Given the description of an element on the screen output the (x, y) to click on. 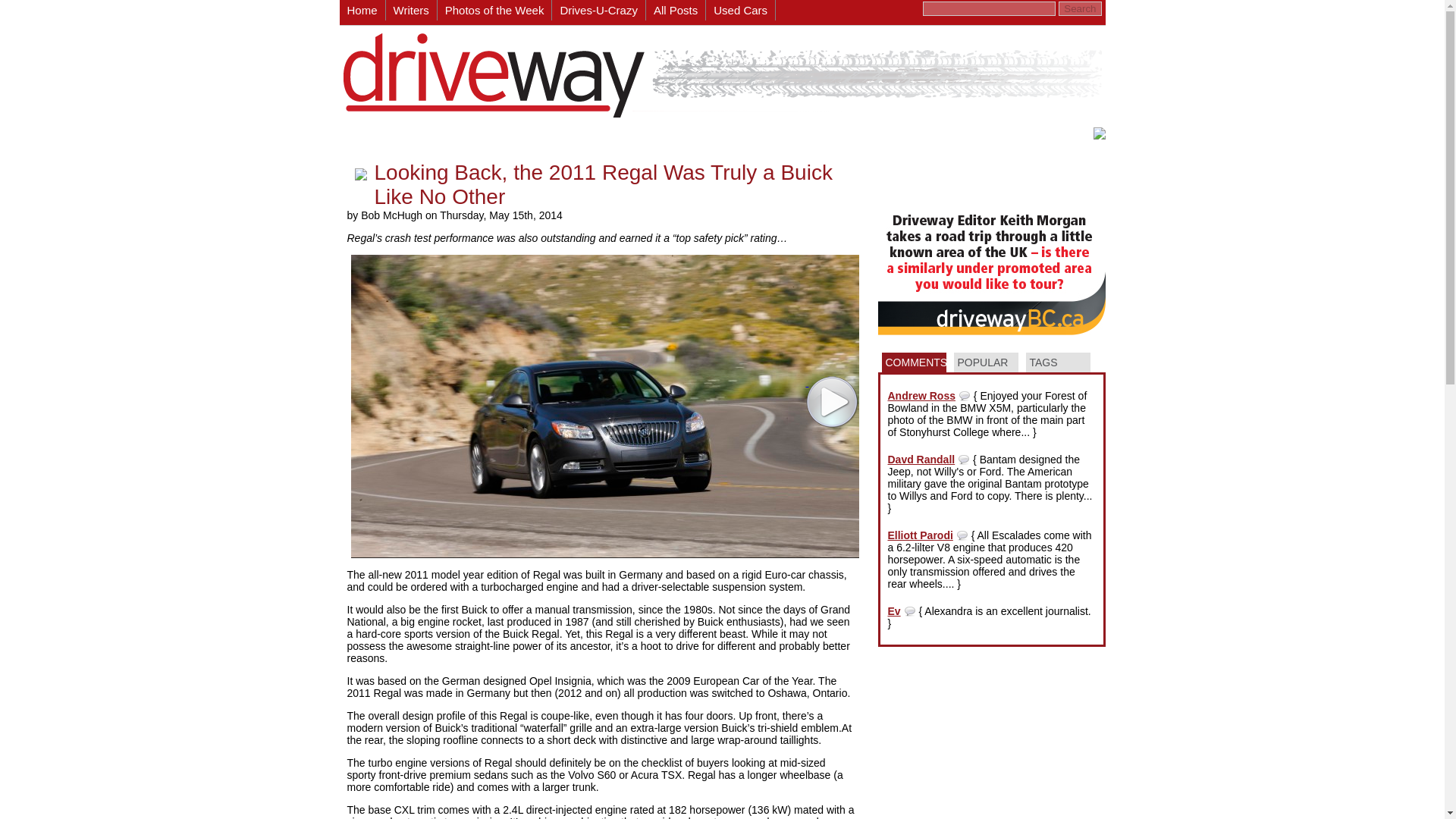
All Posts (676, 10)
Photos of the Week (495, 10)
Davd Randall (920, 459)
Home (362, 10)
Used Cars (741, 10)
Writers (411, 10)
Drives-U-Crazy (598, 10)
Search (1079, 8)
Ev (892, 611)
Andrew Ross (920, 395)
Looking Back, the 2011 Regal Was Truly a Buick Like No Other (603, 184)
Elliott Parodi (919, 535)
Search (1079, 8)
Driveway BC Writers (411, 10)
The latest and greatest cars (495, 10)
